Given the description of an element on the screen output the (x, y) to click on. 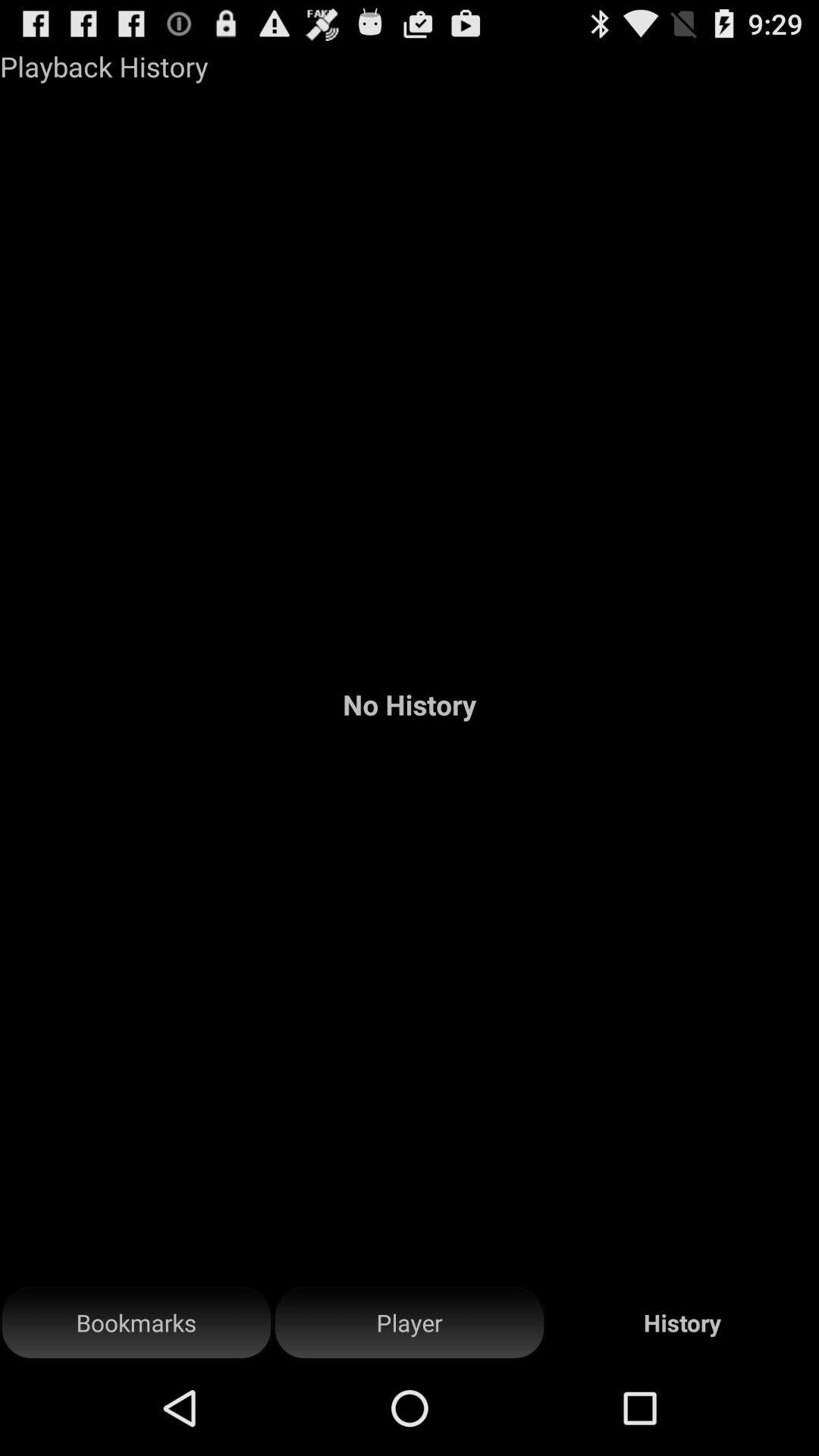
open the button at the bottom (409, 1323)
